Given the description of an element on the screen output the (x, y) to click on. 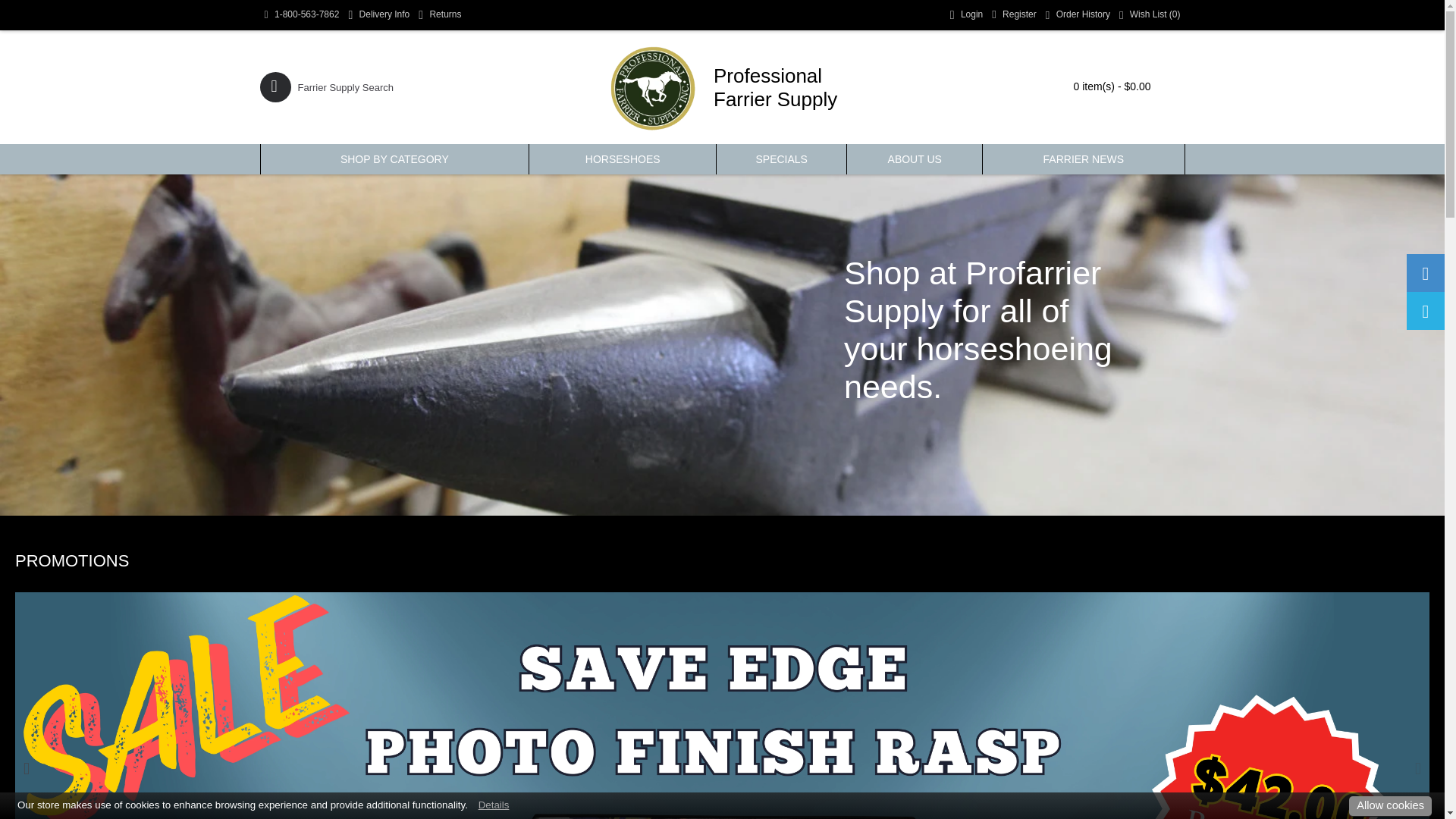
Professional Farrier Supply (722, 86)
1-800-563-7862 (301, 15)
Returns (439, 15)
Professional Farrier Supply (652, 86)
SHOP BY CATEGORY (394, 159)
Register (1014, 15)
Delivery Info (378, 15)
Login (966, 15)
Order History (1078, 15)
